Given the description of an element on the screen output the (x, y) to click on. 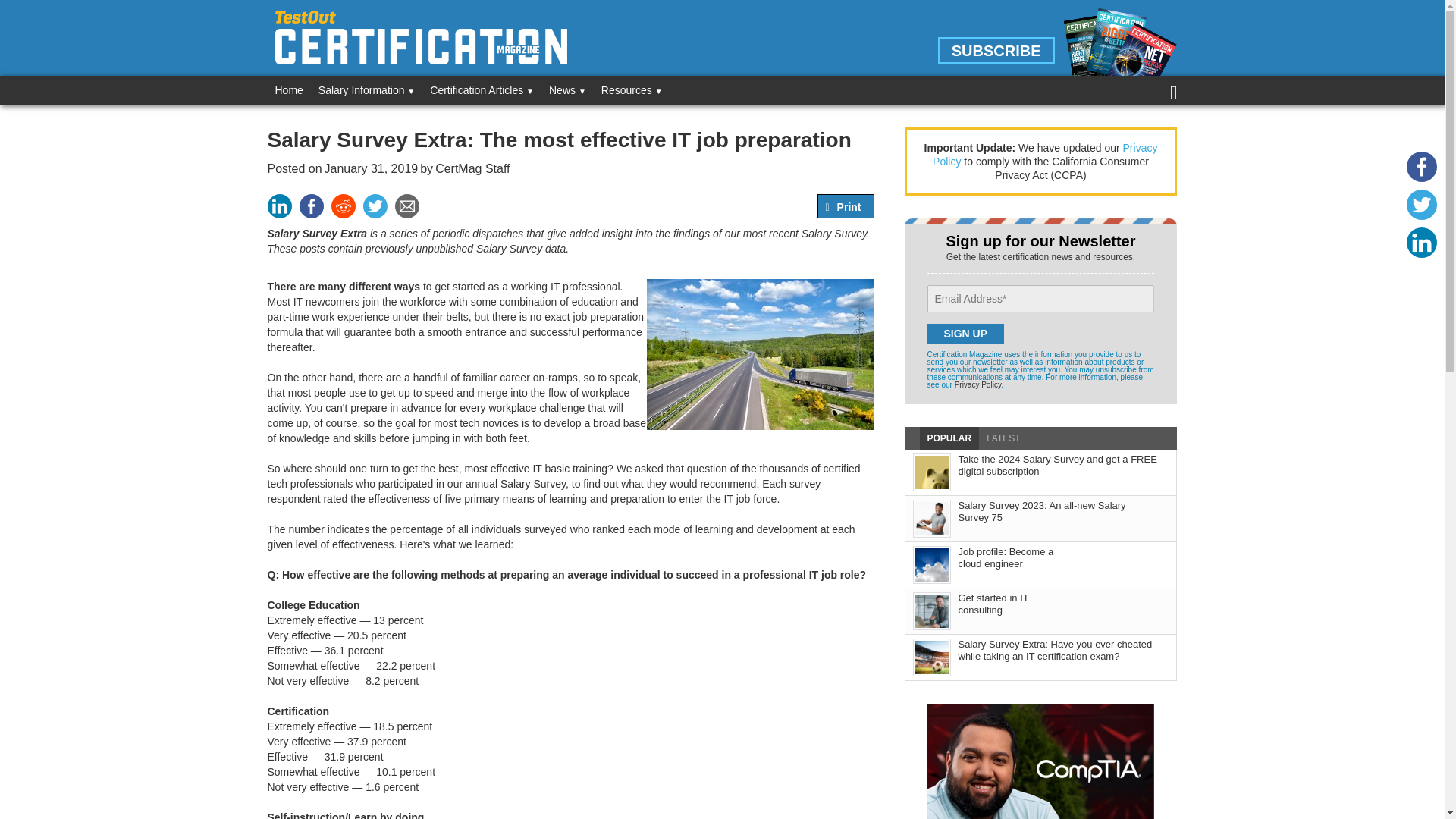
Search (37, 14)
Print (849, 206)
Sign Up (965, 333)
SUBSCRIBE (995, 50)
Home (288, 90)
